Given the description of an element on the screen output the (x, y) to click on. 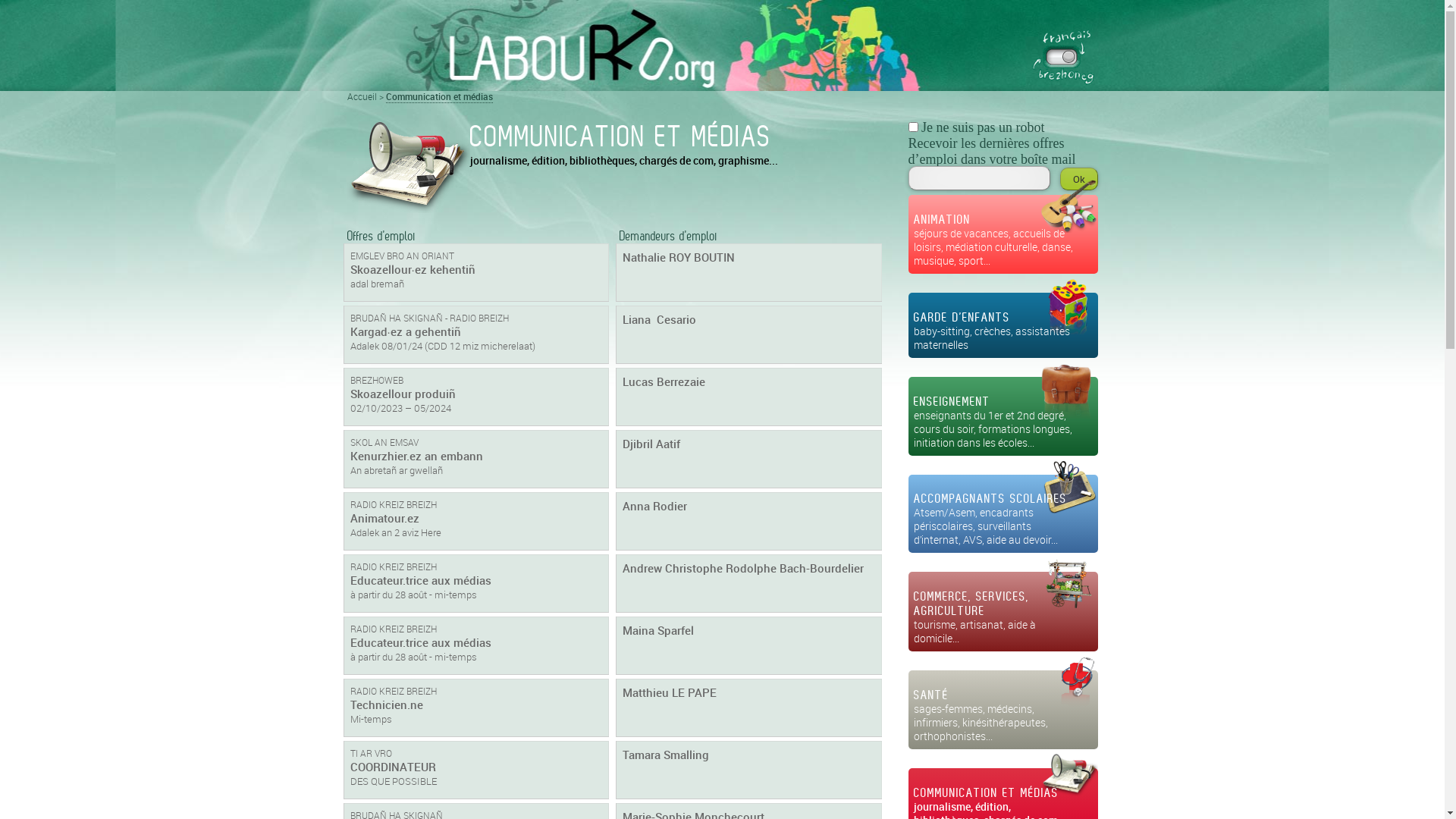
Accueil Element type: hover (722, 45)
Andrew Christophe Rodolphe Bach-Bourdelier Element type: text (748, 583)
Accueil Element type: text (361, 96)
TI AR VRO
COORDINATEUR
DES QUE POSSIBLE Element type: text (475, 769)
Anna Rodier Element type: text (748, 521)
Liana  Cesario Element type: text (748, 334)
Djibril Aatif Element type: text (748, 458)
RADIO KREIZ BREIZH
Animatour.ez
Adalek an 2 aviz Here Element type: text (475, 521)
Matthieu LE PAPE Element type: text (748, 707)
RADIO KREIZ BREIZH
Technicien.ne
Mi-temps Element type: text (475, 707)
Lucas Berrezaie Element type: text (748, 396)
Maina Sparfel Element type: text (748, 645)
Nathalie ROY BOUTIN Element type: text (748, 272)
Tamara Smalling Element type: text (748, 769)
Ok Element type: text (1079, 178)
